Given the description of an element on the screen output the (x, y) to click on. 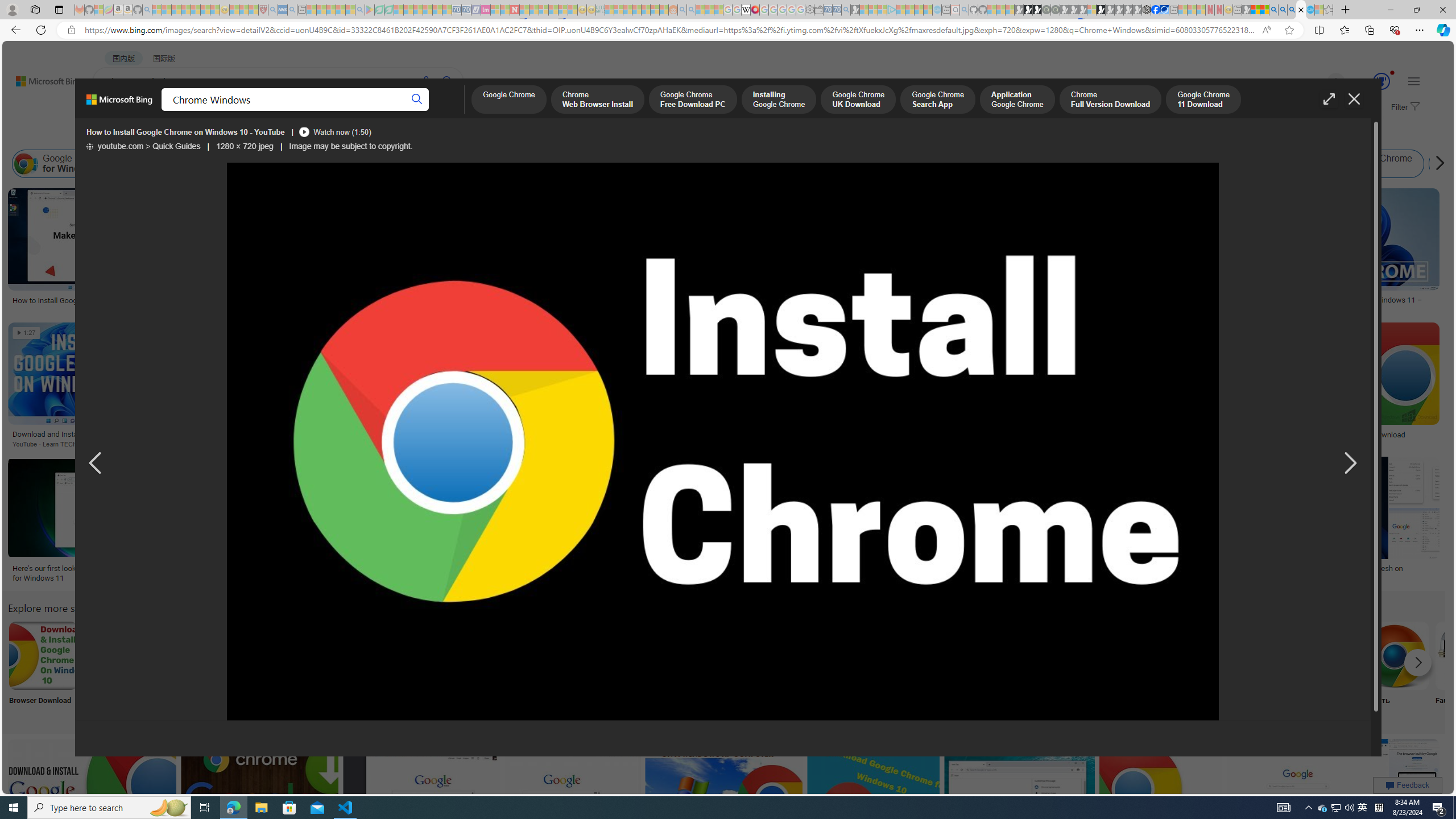
Latest Politics News & Archive | Newsweek.com - Sleeping (514, 9)
Use Google Chrome (1243, 654)
Close image (1352, 99)
Trusted Community Engagement and Contributions | Guidelines (524, 9)
Kinda Frugal - MSN - Sleeping (645, 9)
Install Google Chrome Browser (884, 163)
Full screen (1328, 99)
Installing Chrome On Windows 8: Everything You Need To Know (521, 299)
